Given the description of an element on the screen output the (x, y) to click on. 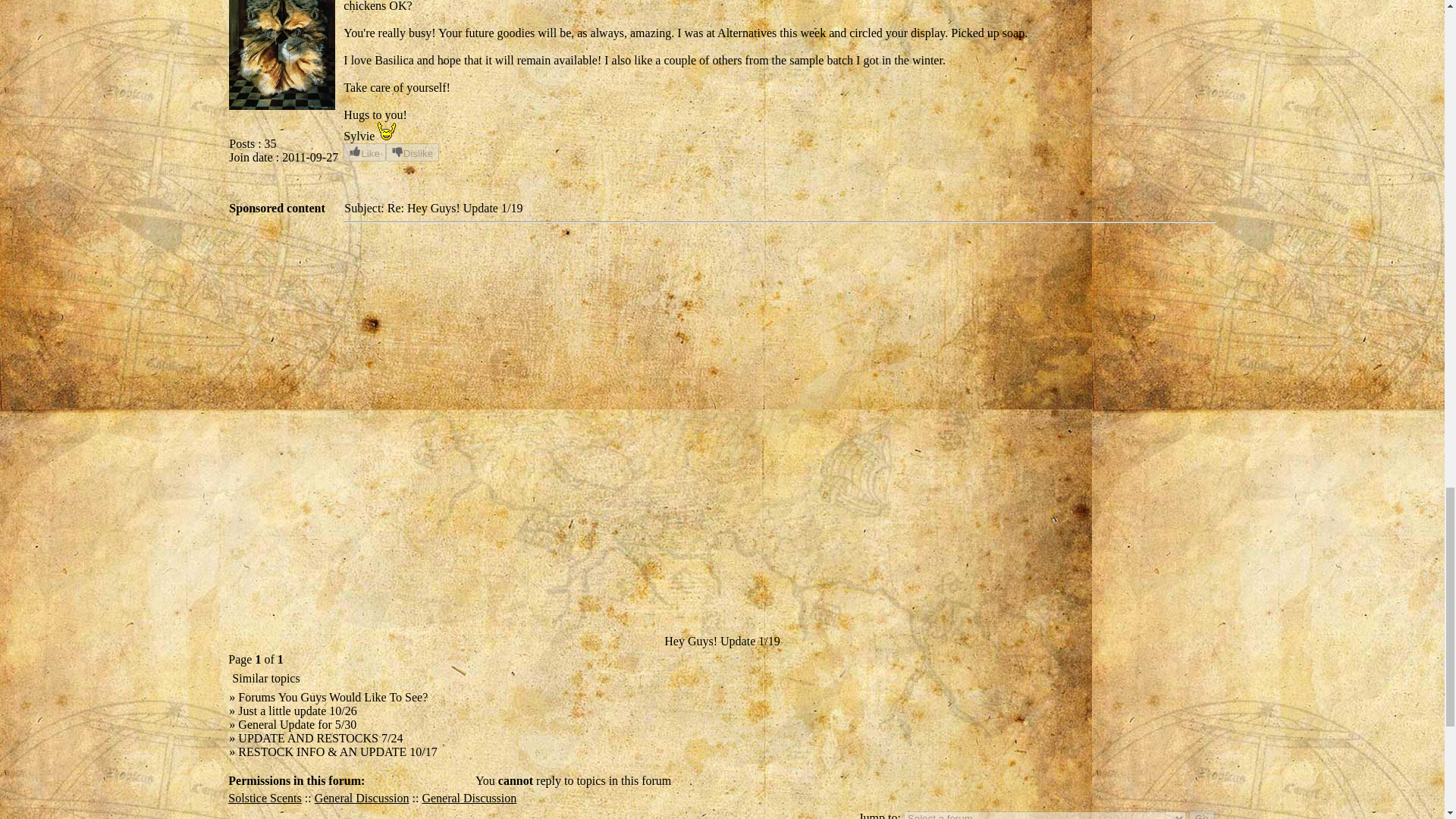
Go (1201, 814)
Dislike (412, 152)
Like (364, 152)
